Given the description of an element on the screen output the (x, y) to click on. 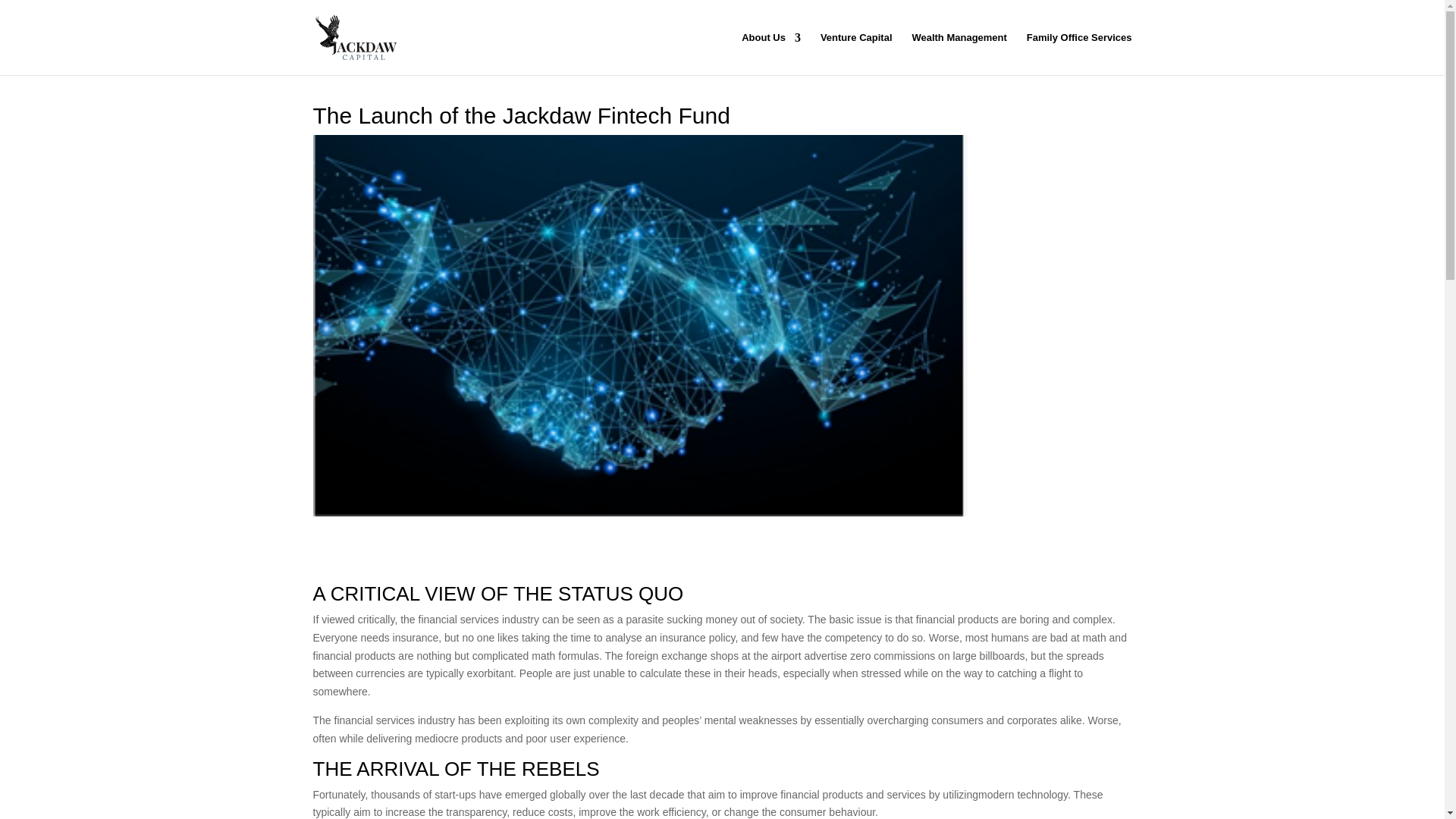
About Us (770, 53)
Venture Capital (856, 53)
Family Office Services (1079, 53)
Wealth Management (958, 53)
